Given the description of an element on the screen output the (x, y) to click on. 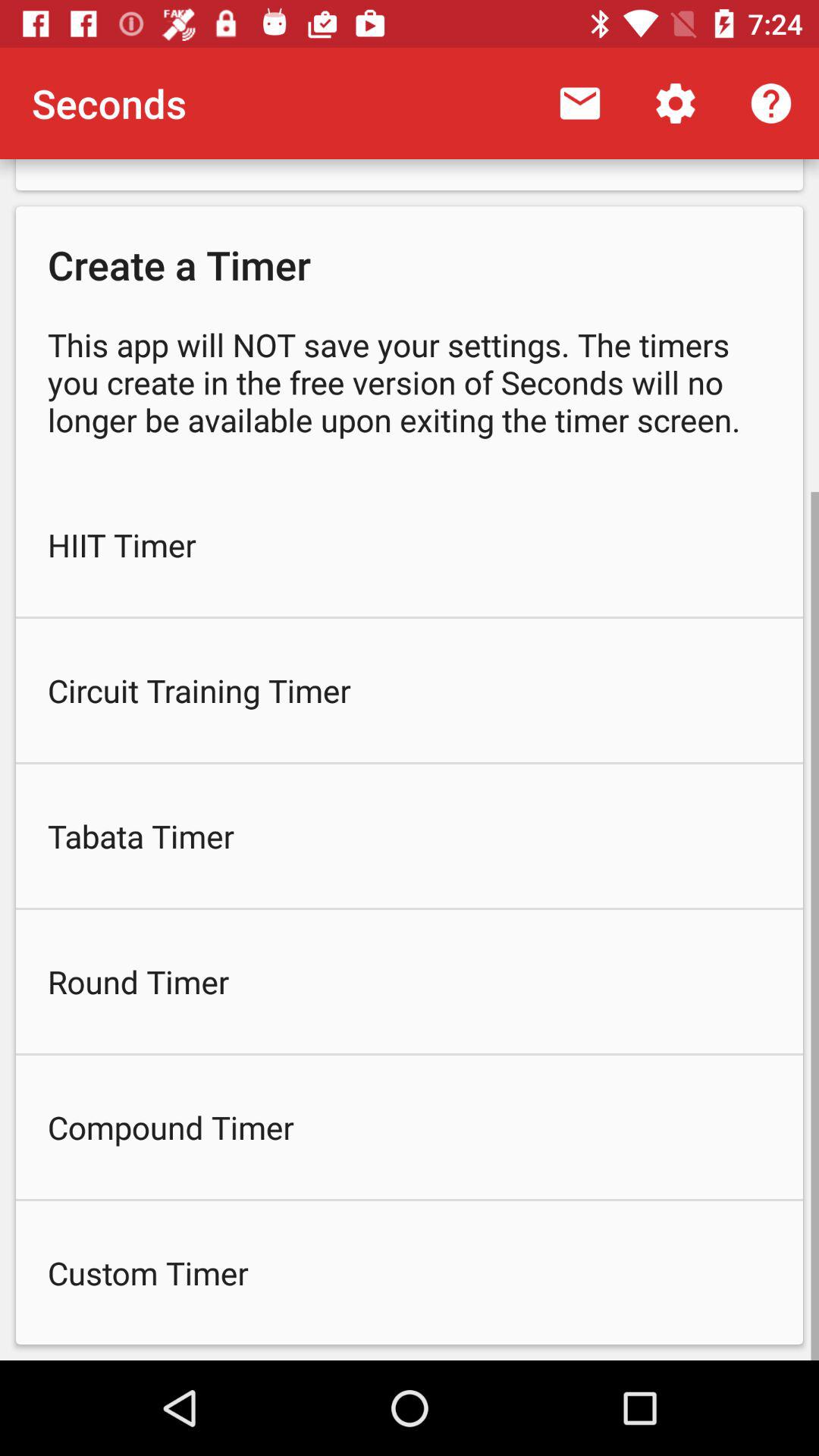
press hiit timer (409, 544)
